Given the description of an element on the screen output the (x, y) to click on. 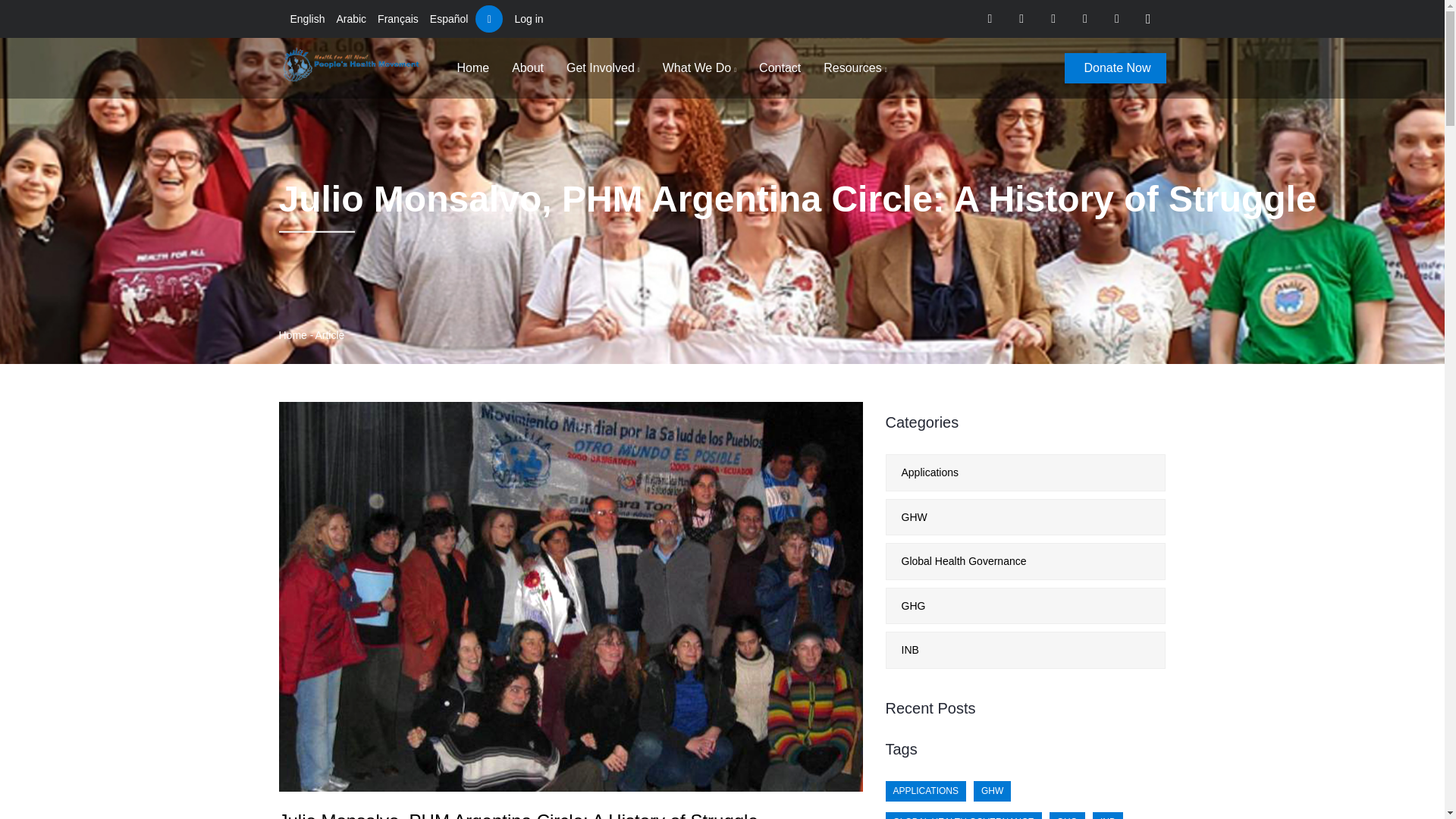
Home (352, 64)
Home (473, 67)
Home (293, 335)
What We Do (699, 67)
Resources (855, 67)
Get Involved (603, 67)
English (306, 18)
About (527, 67)
Donate Now (1115, 68)
Contact (779, 67)
Log in (528, 18)
